Given the description of an element on the screen output the (x, y) to click on. 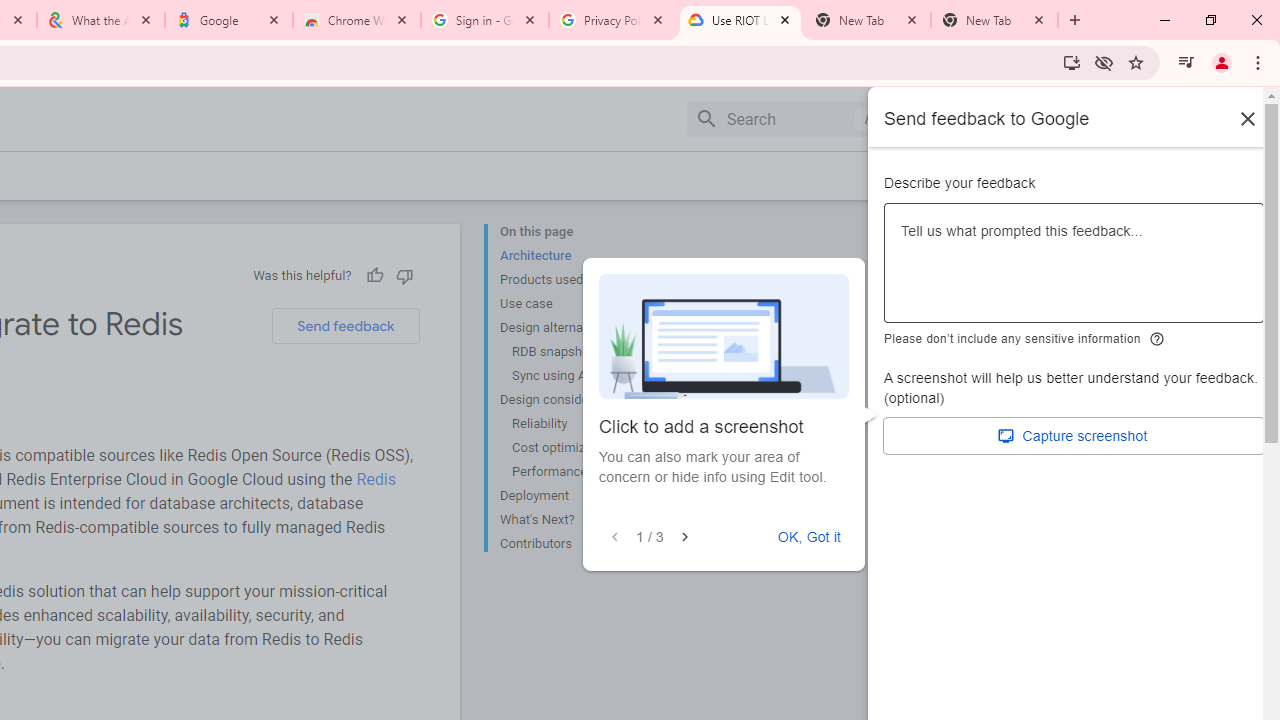
Send feedback (345, 326)
What's Next? (580, 520)
Start free (1182, 175)
RDB snapshots (585, 351)
Helpful (374, 275)
Chrome Web Store - Color themes by Chrome (357, 20)
OK, Got it (809, 537)
Reliability (585, 423)
Google (229, 20)
Not helpful (404, 275)
